Given the description of an element on the screen output the (x, y) to click on. 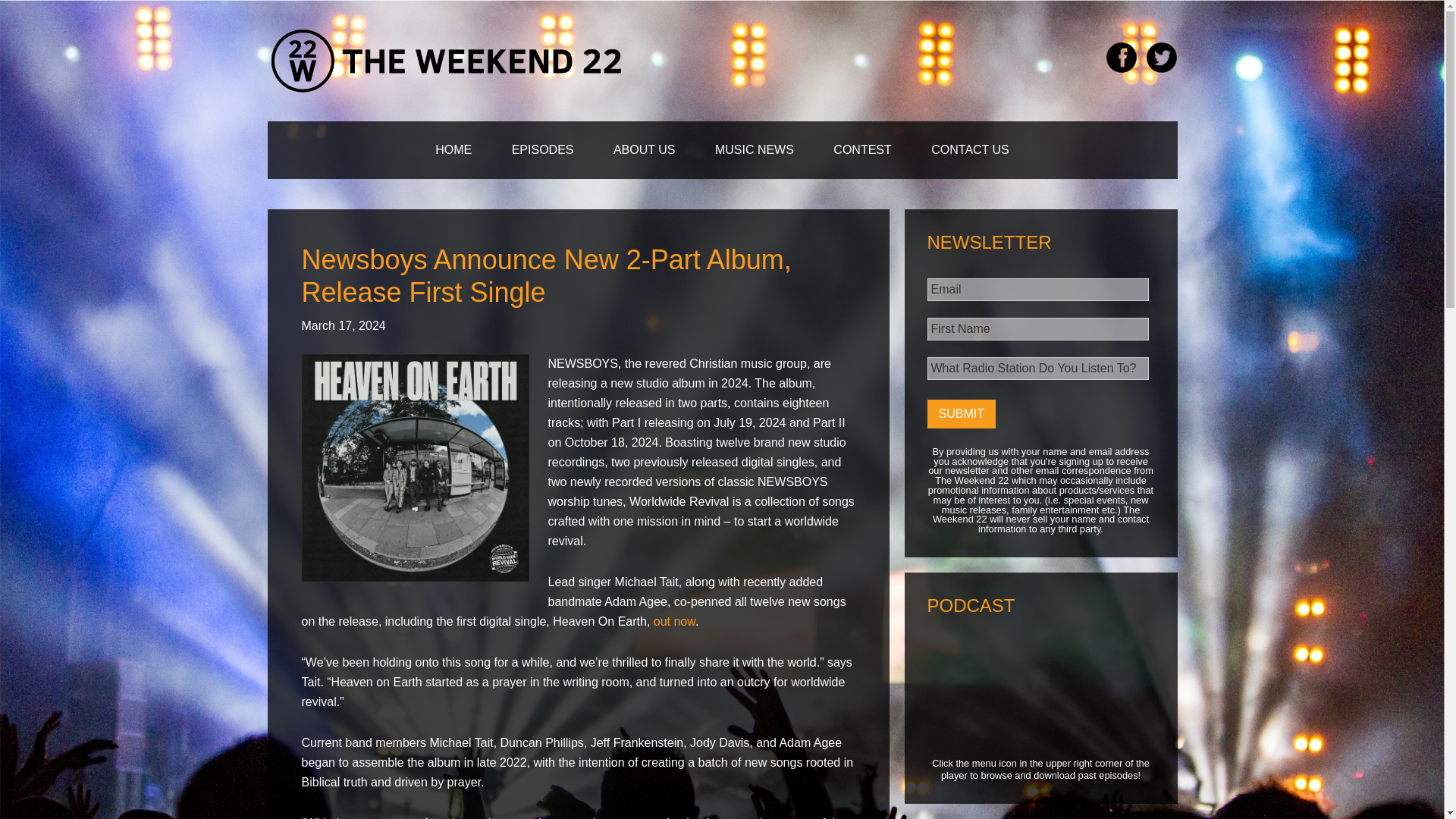
EPISODES (542, 150)
out now (674, 621)
ABOUT US (644, 150)
CONTACT US (969, 150)
CONTEST (861, 150)
MUSIC NEWS (754, 150)
Weekend22 (446, 60)
Submit (960, 413)
HOME (452, 150)
Submit (960, 413)
